Given the description of an element on the screen output the (x, y) to click on. 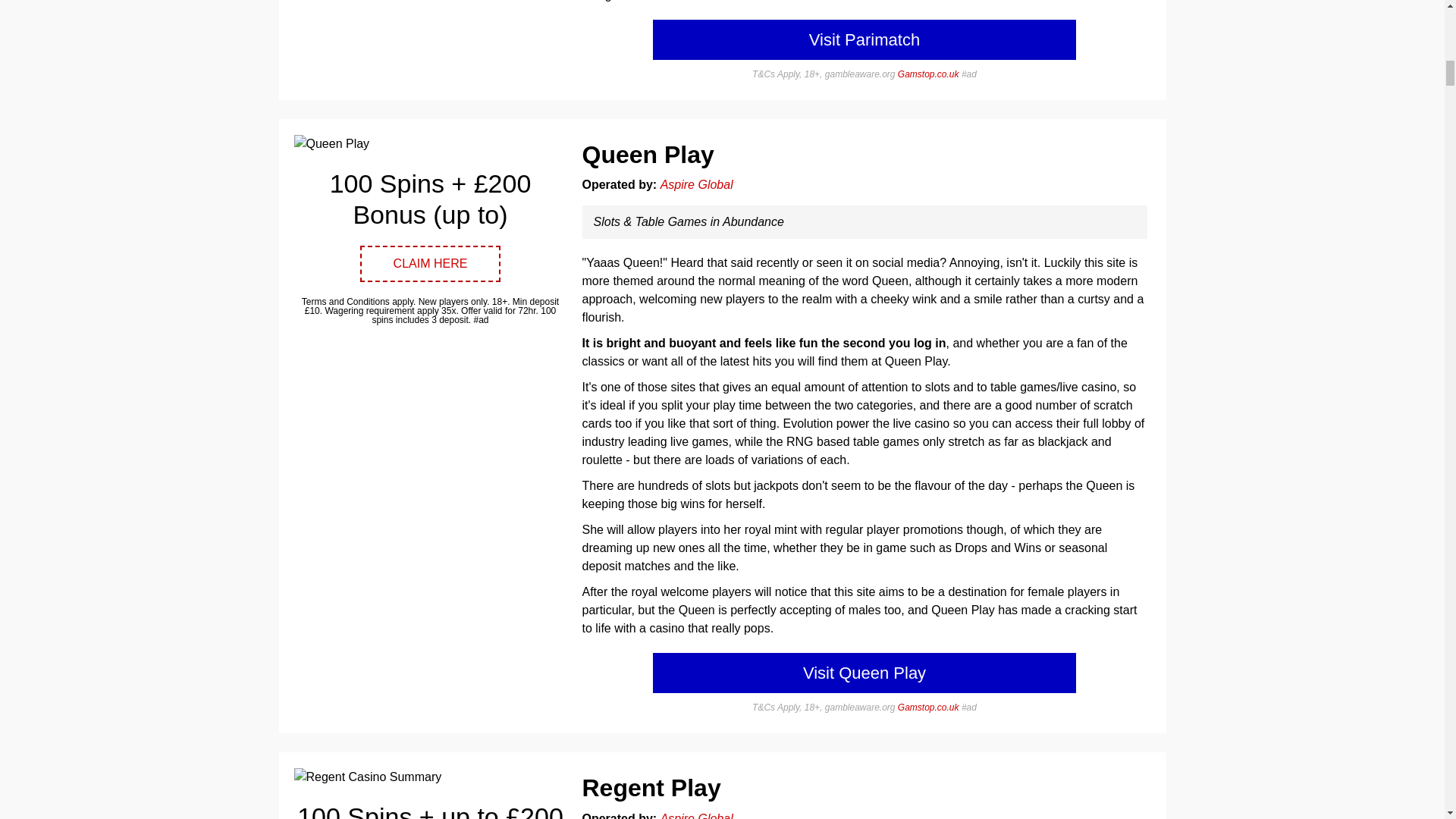
Aspire Global (697, 184)
Visit Parimatch (864, 39)
Gamstop.co.uk (928, 73)
Aspire Global (697, 815)
Gamstop.co.uk (928, 706)
Visit Queen Play (864, 672)
CLAIM HERE (430, 263)
